Given the description of an element on the screen output the (x, y) to click on. 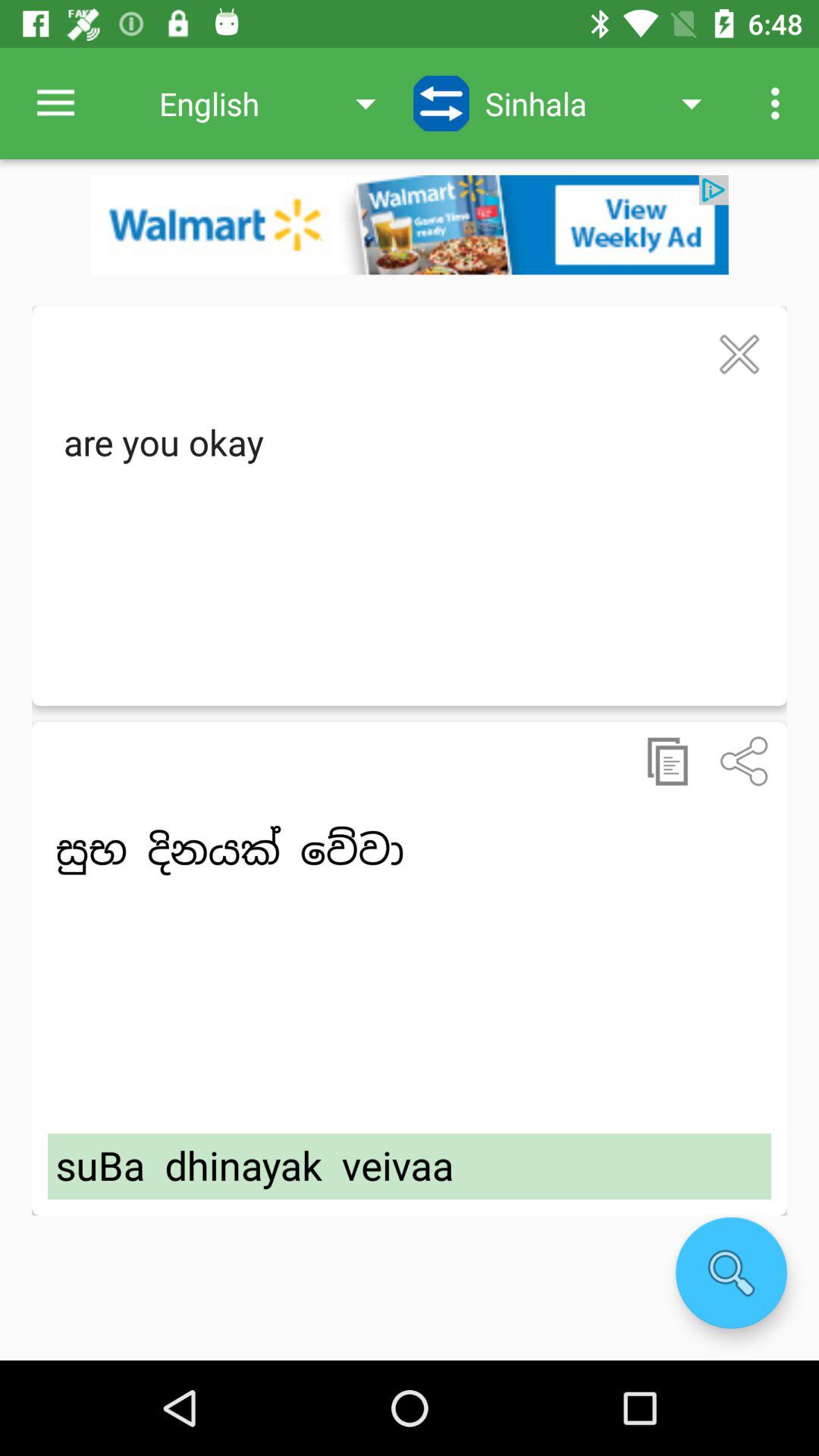
turn on icon next to the english item (441, 103)
